Given the description of an element on the screen output the (x, y) to click on. 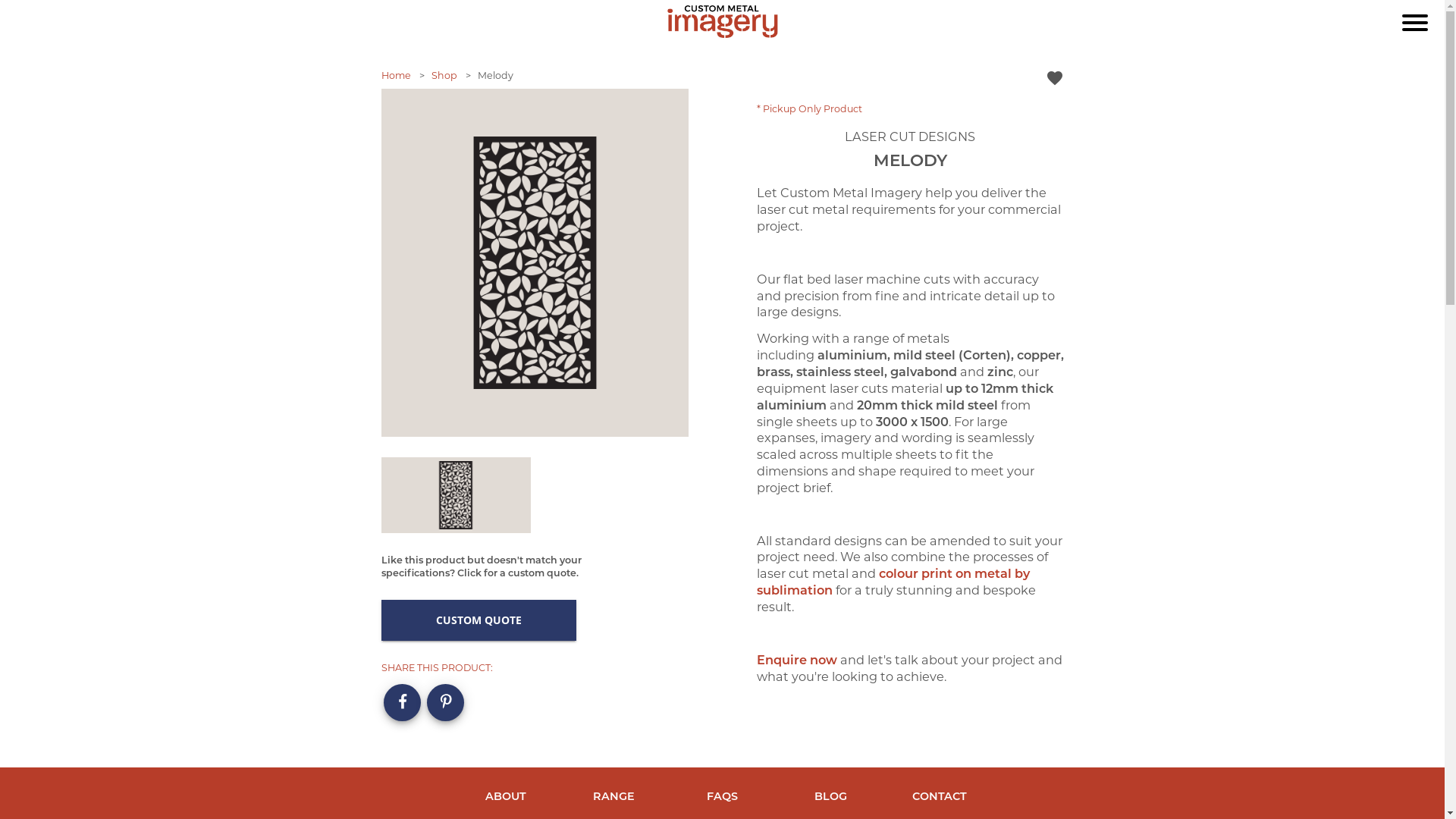
CONTACT Element type: text (939, 791)
Home Element type: text (395, 75)
RANGE Element type: text (613, 791)
ABOUT Element type: text (504, 791)
BLOG Element type: text (830, 791)
FAQS Element type: text (721, 791)
CUSTOM QUOTE Element type: text (477, 619)
Shop Element type: text (443, 75)
Enquire now Element type: text (796, 659)
colour print on metal by sublimation Element type: text (892, 581)
